Given the description of an element on the screen output the (x, y) to click on. 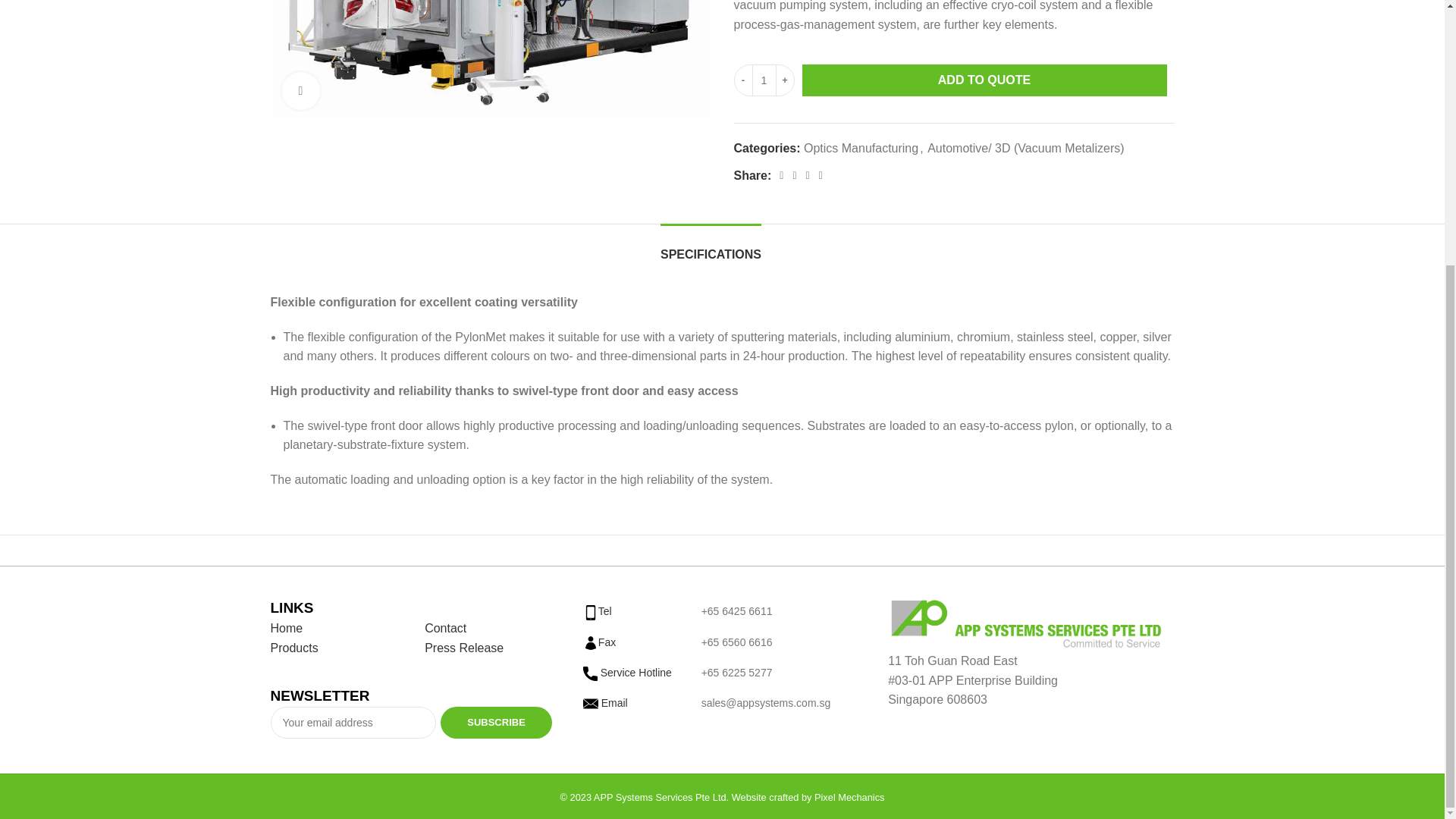
Buhler PylonMet (489, 58)
ADD TO QUOTE (984, 80)
Subscribe (496, 722)
